Given the description of an element on the screen output the (x, y) to click on. 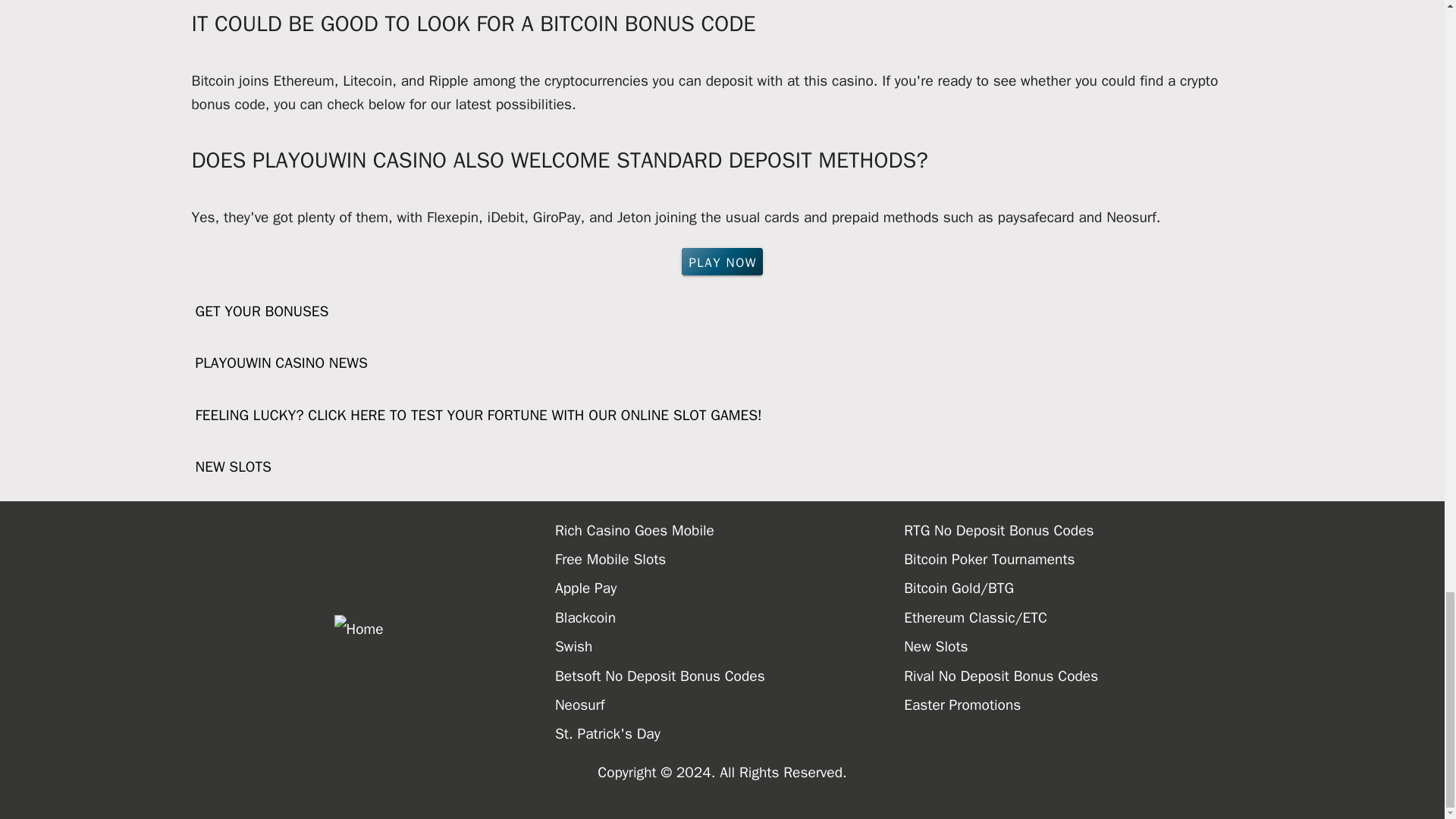
Blackcoin (729, 617)
Neosurf (729, 705)
New Slots (1078, 646)
Betsoft No Deposit Bonus Codes (729, 676)
PLAY NOW (721, 261)
St. Patrick's Day (729, 733)
RTG No Deposit Bonus Codes (1078, 530)
Apple Pay (729, 588)
Swish (729, 646)
Bitcoin Poker Tournaments (1078, 559)
